Given the description of an element on the screen output the (x, y) to click on. 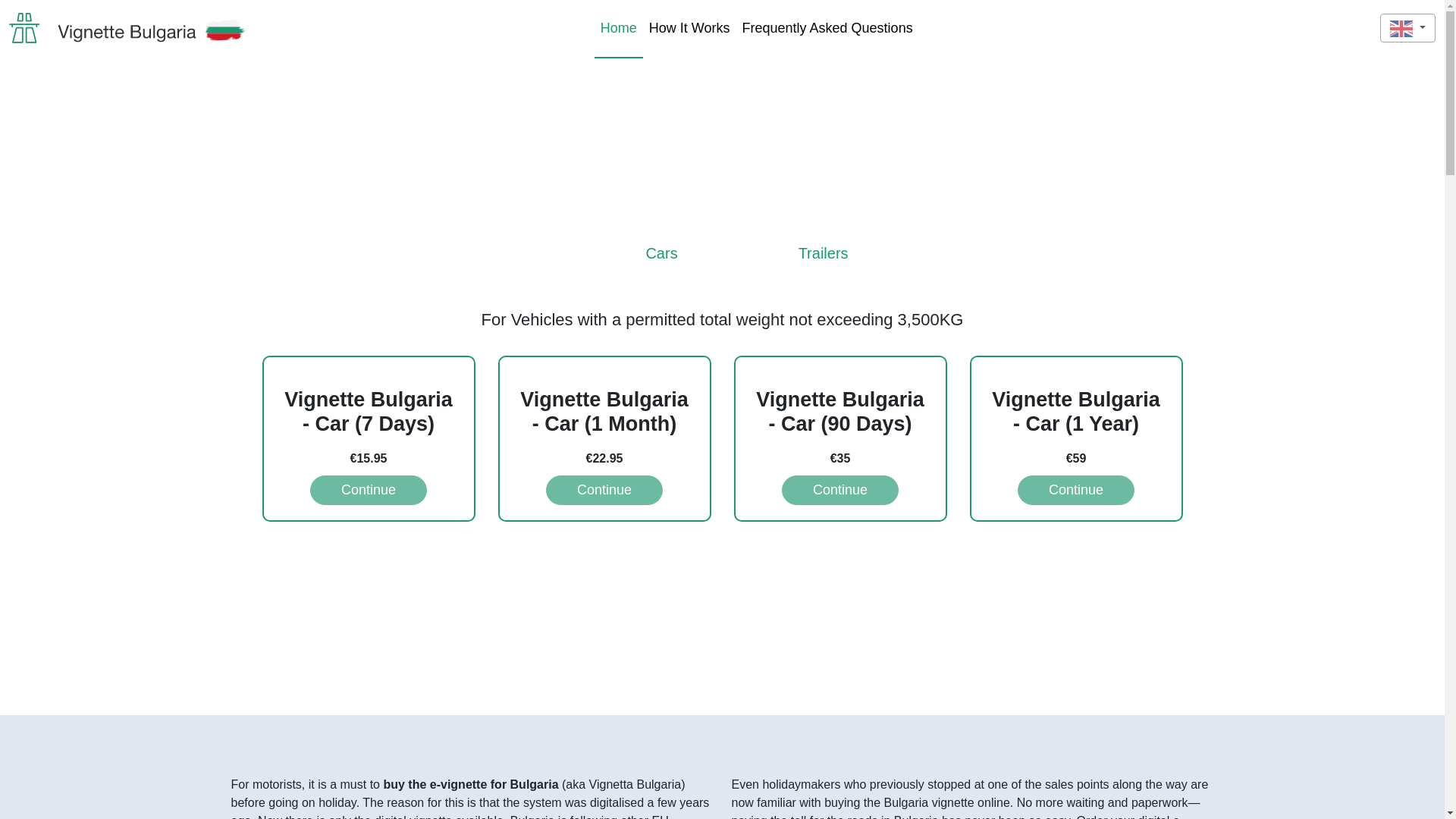
Continue (839, 490)
Continue (604, 490)
Frequently Asked Questions (827, 28)
Continue (1075, 490)
Continue (368, 490)
How It Works (689, 28)
Home (618, 28)
Trailers (794, 263)
Cars (631, 263)
